Given the description of an element on the screen output the (x, y) to click on. 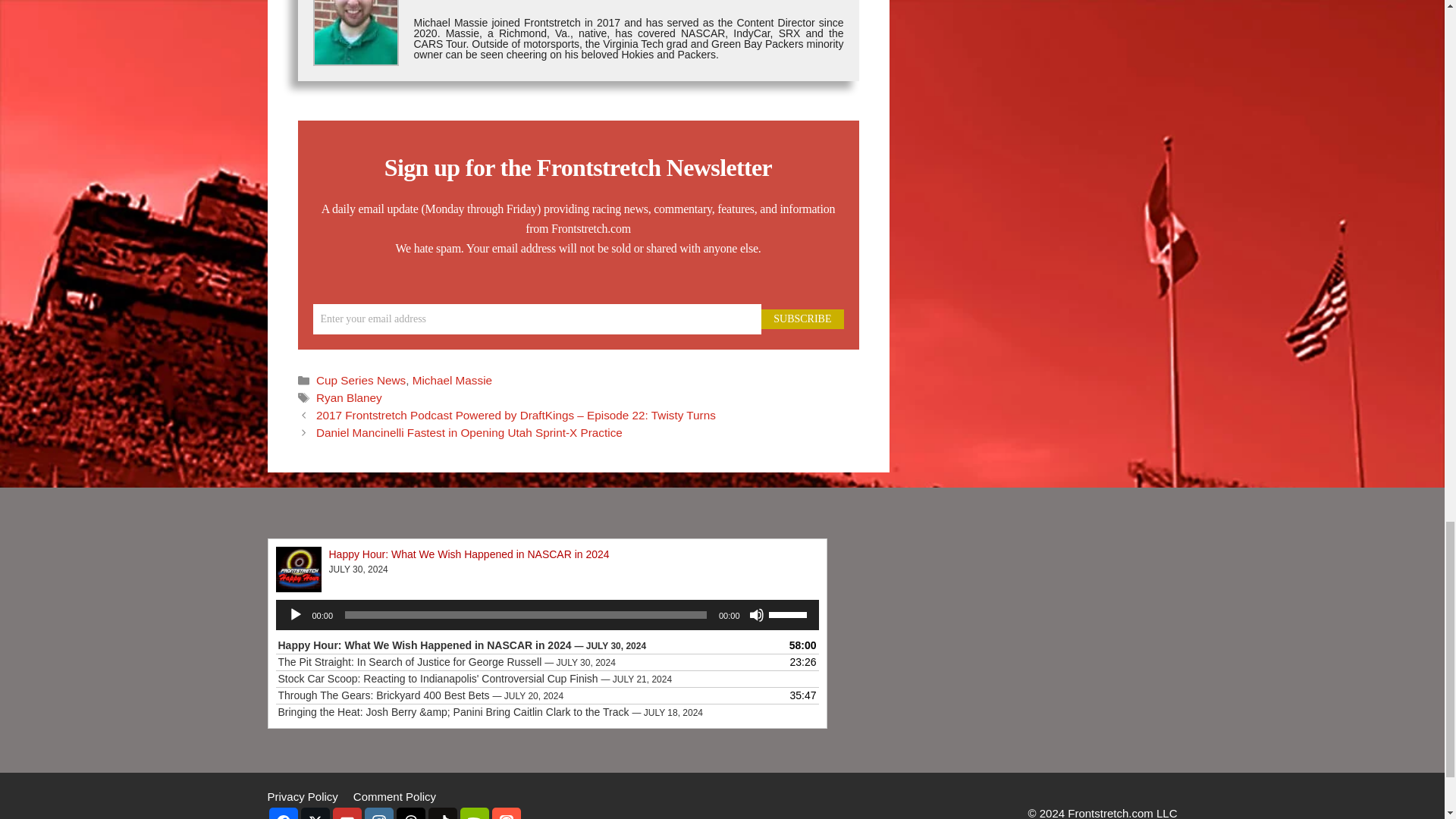
Michael Massie (452, 379)
Play (295, 614)
Cup Series News (360, 379)
SUBSCRIBE (802, 319)
Mute (756, 614)
